Given the description of an element on the screen output the (x, y) to click on. 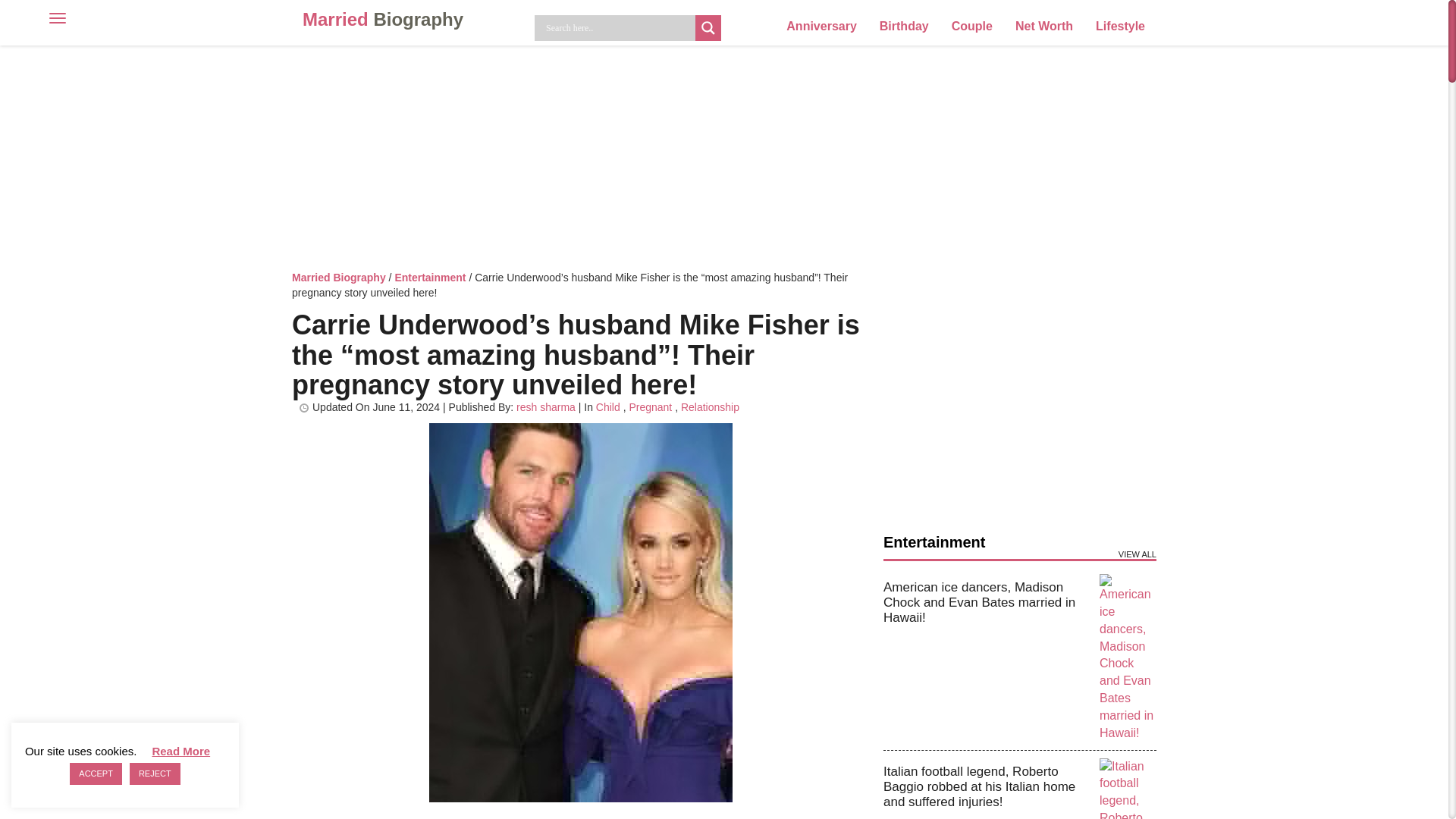
Married Biography (383, 19)
Anniversary (820, 26)
Lifestyle (1120, 26)
Net Worth (1044, 26)
Married Biography (338, 277)
Entertainment (429, 277)
Couple (972, 26)
Toggle navigation (38, 16)
Birthday (903, 26)
Married Biography (383, 19)
Lifestyle (1120, 26)
